Given the description of an element on the screen output the (x, y) to click on. 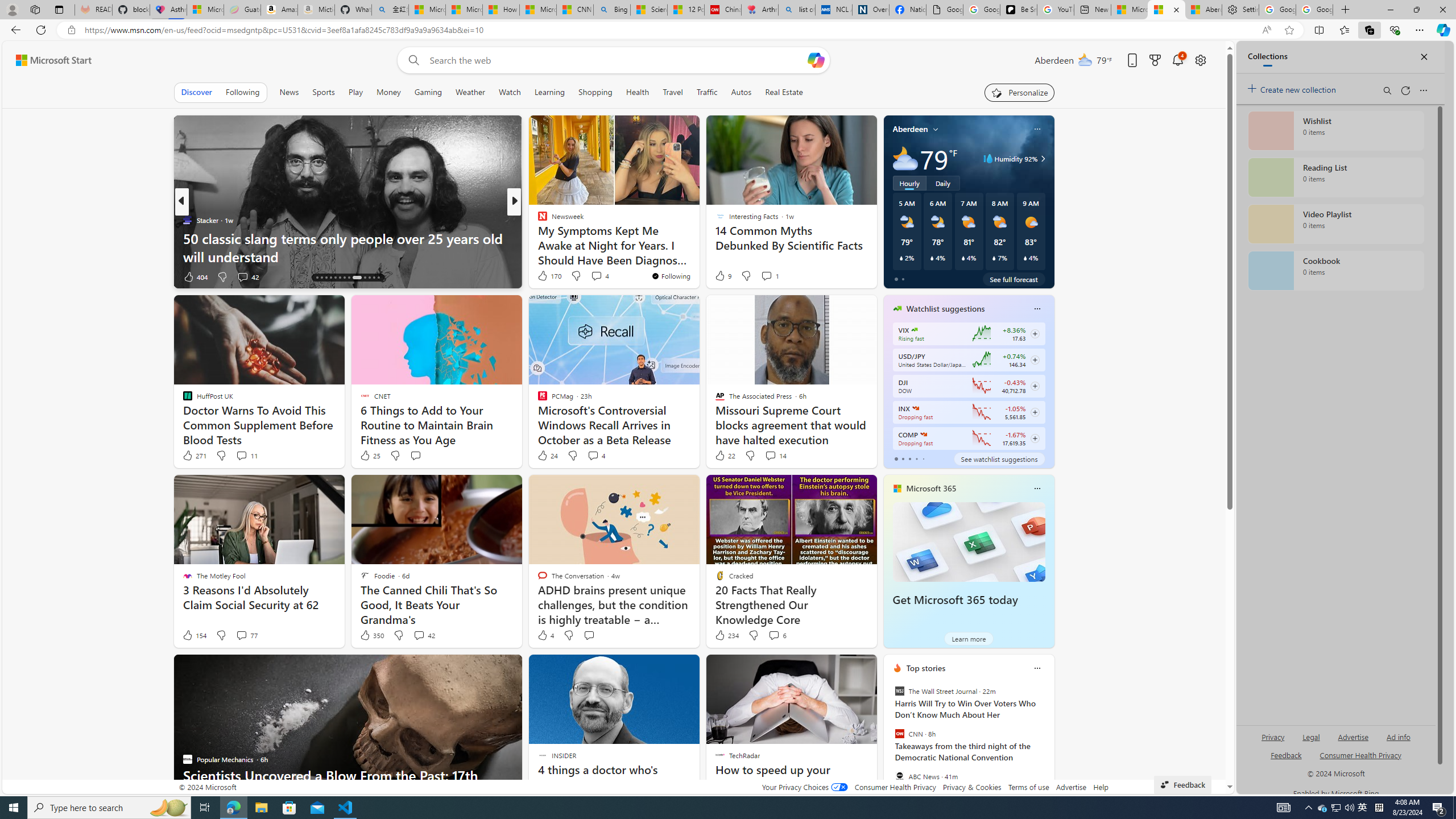
404 Like (194, 276)
25 Like (368, 455)
AutomationID: tab-15 (321, 277)
next (1047, 741)
AutomationID: tab-22 (356, 277)
View comments 5 Comment (592, 276)
TODAY (537, 219)
